Given the description of an element on the screen output the (x, y) to click on. 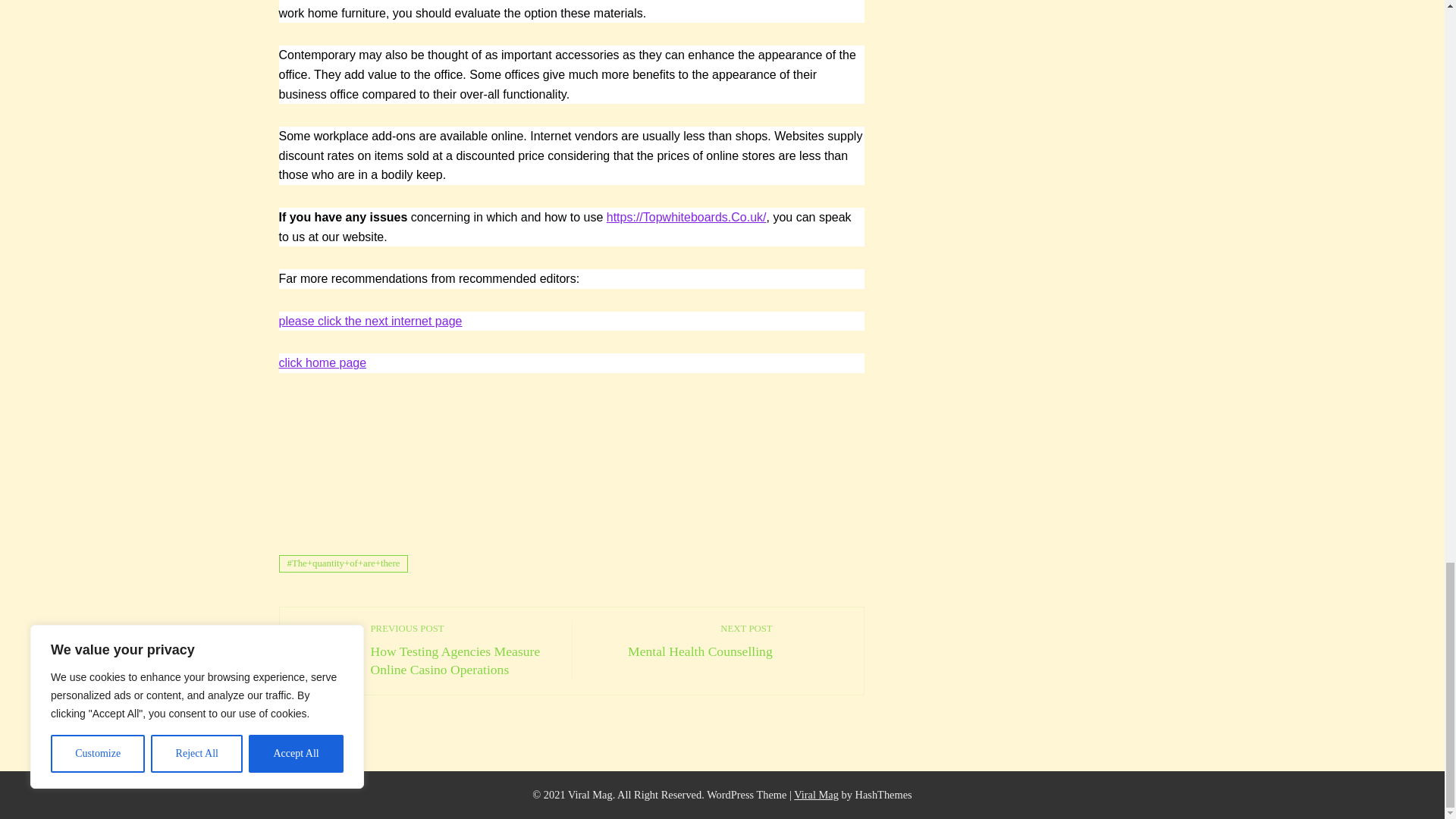
Download Viral News (680, 640)
please click the next internet page (815, 794)
click home page (371, 320)
